Given the description of an element on the screen output the (x, y) to click on. 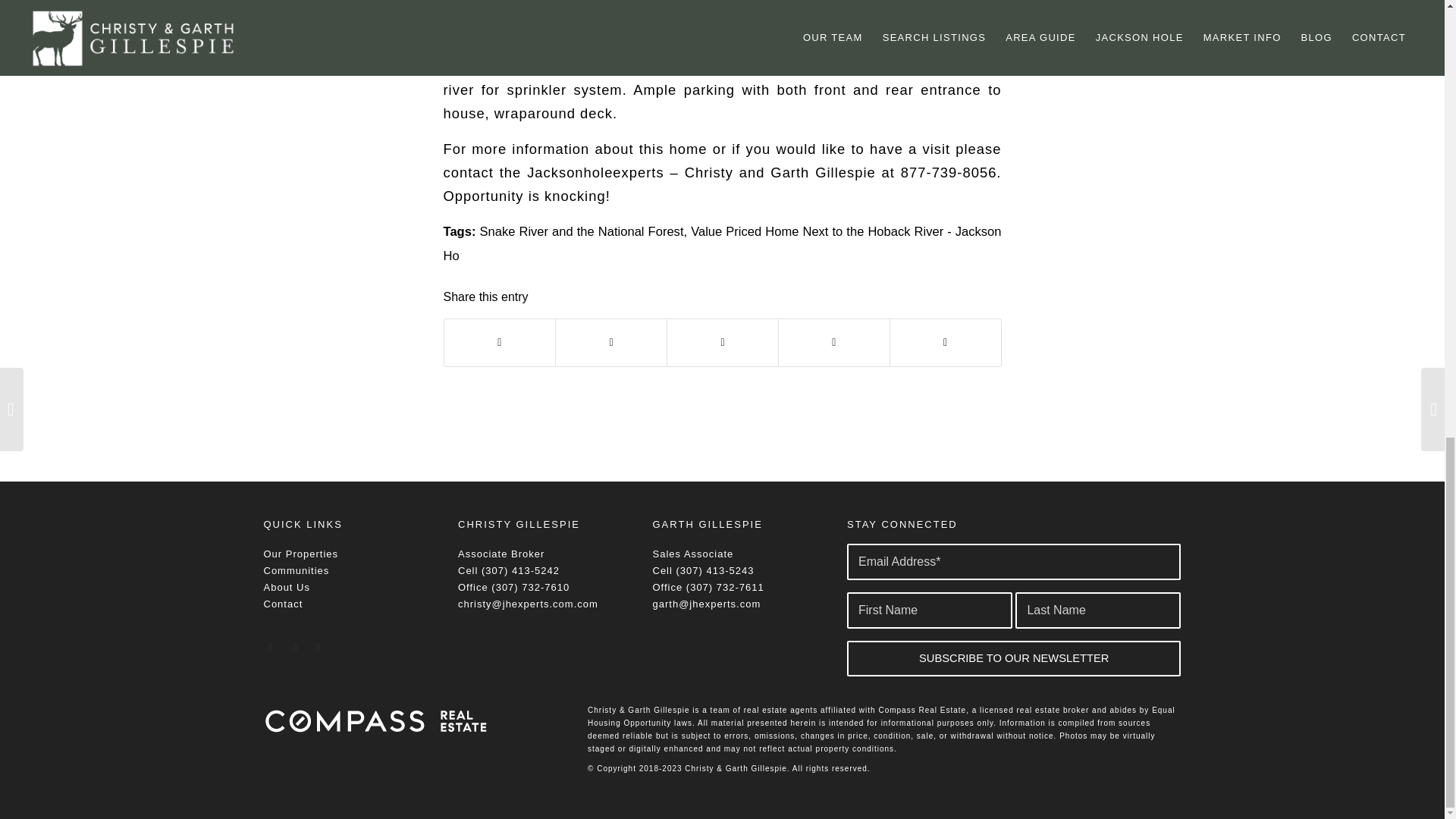
Value Priced Home Next to the Hoback River - Jackson Ho (721, 243)
Compass-RE-Horizontal-White300 (377, 721)
SUBSCRIBE TO OUR NEWSLETTER (1013, 658)
Our Properties (301, 553)
Jacksonholeexperts (595, 172)
Snake River and the National Forest (580, 231)
About Us (286, 586)
Communities (296, 570)
